Given the description of an element on the screen output the (x, y) to click on. 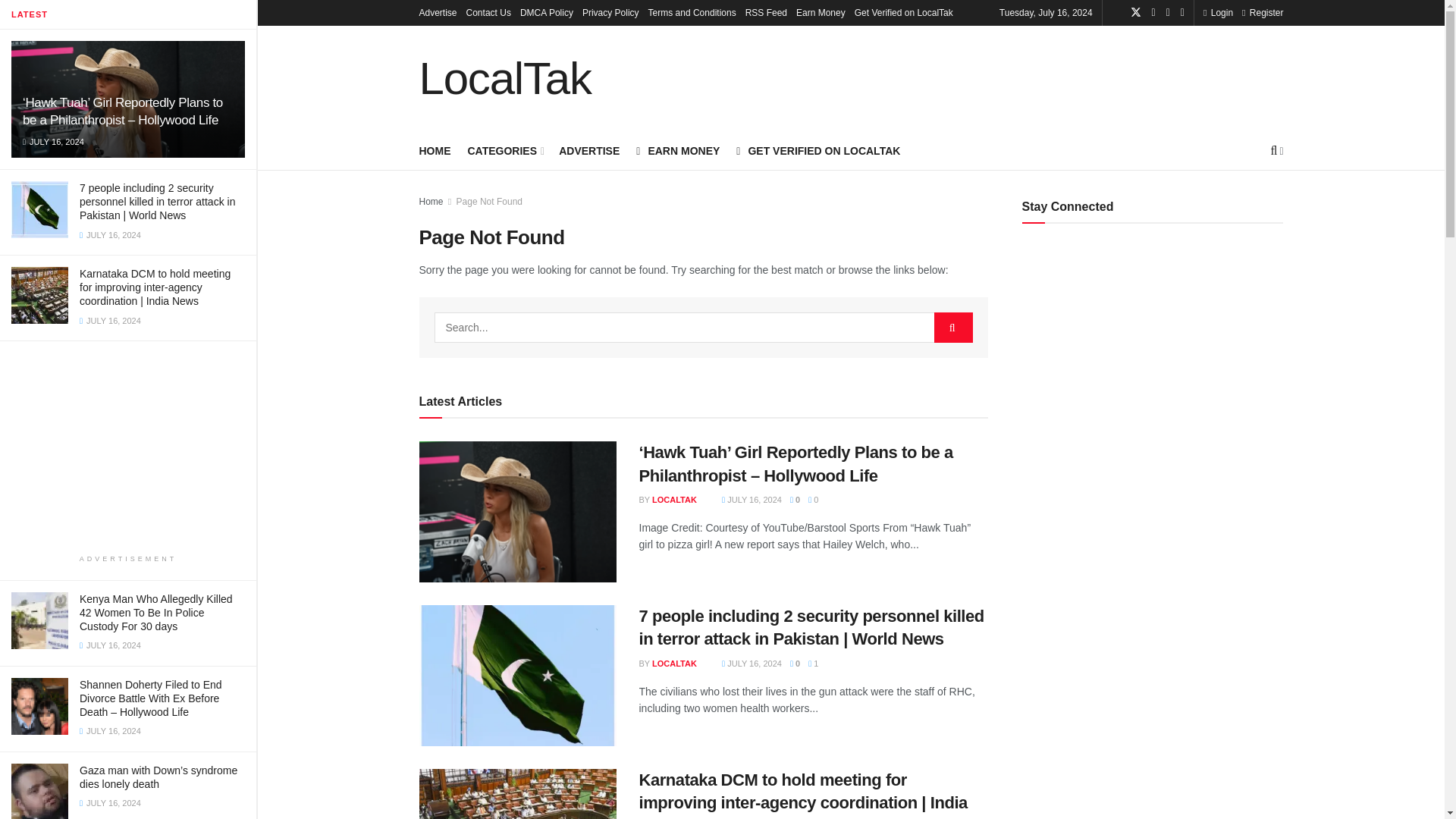
Register (1261, 12)
DMCA Policy (546, 12)
Privacy Policy (610, 12)
Advertise (438, 12)
Login (1218, 12)
Terms and Conditions (691, 12)
RSS Feed (766, 12)
Get Verified on LocalTak (903, 12)
LocalTak (505, 78)
Advertisement (1006, 76)
Contact Us (488, 12)
Earn Money (820, 12)
Advertisement (127, 447)
